Given the description of an element on the screen output the (x, y) to click on. 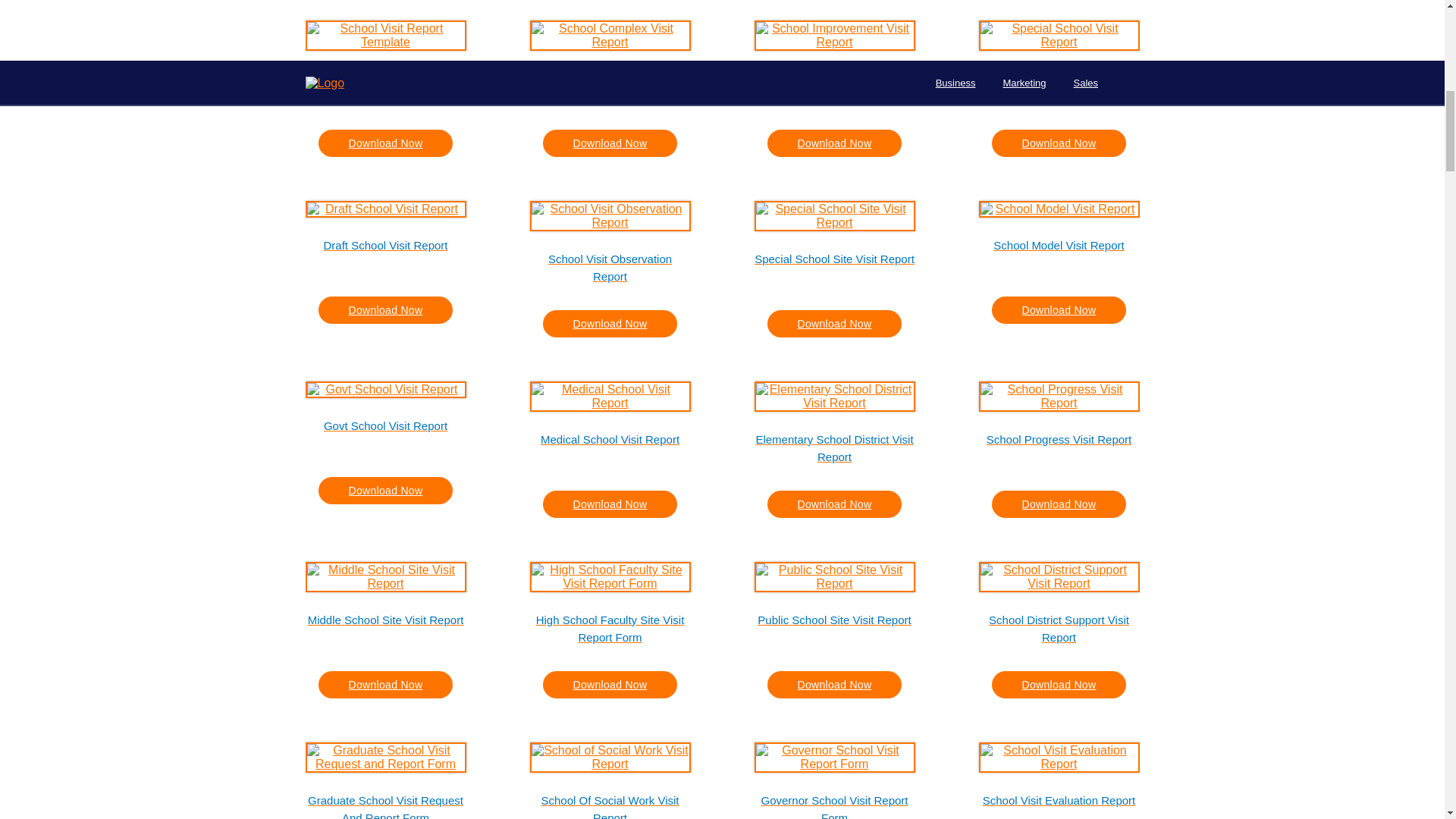
Download Now (834, 143)
Download Now (610, 143)
School Complex Visit Report (609, 86)
Download Now (1058, 143)
School Improvement Visit Report (834, 86)
School Visit Report Template (384, 86)
Special School Visit Report (1058, 86)
Download Now (385, 143)
